Given the description of an element on the screen output the (x, y) to click on. 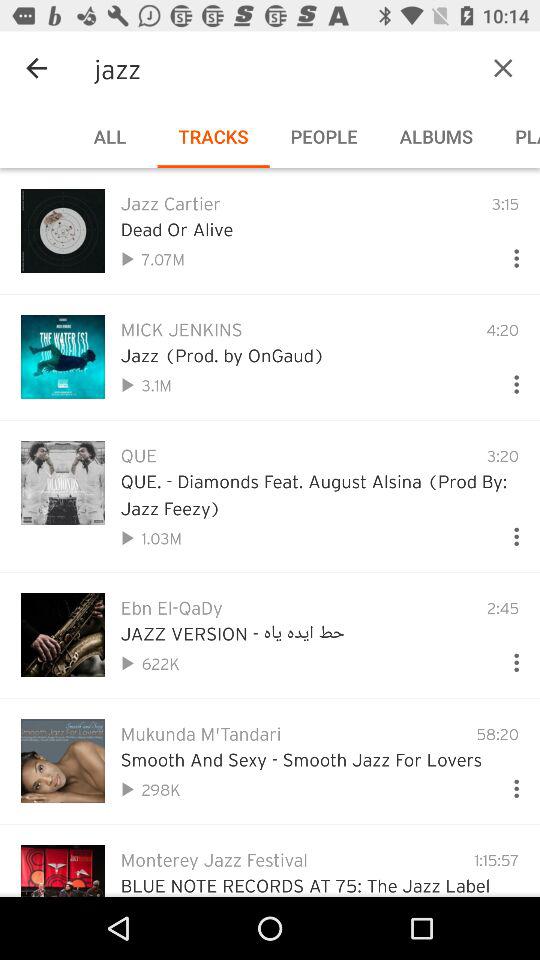
more options (508, 380)
